Given the description of an element on the screen output the (x, y) to click on. 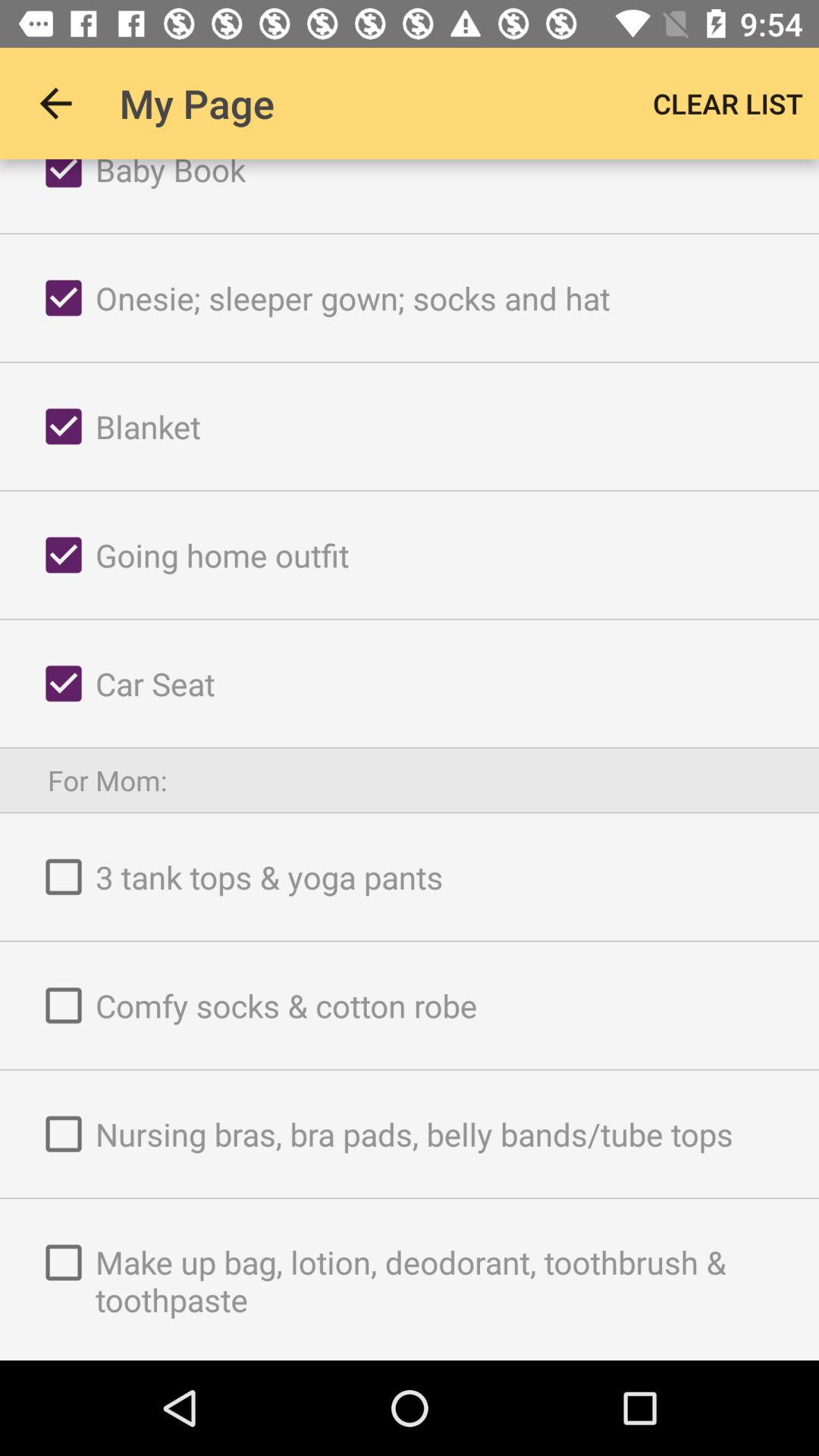
turn off item to the left of the my page item (55, 103)
